Given the description of an element on the screen output the (x, y) to click on. 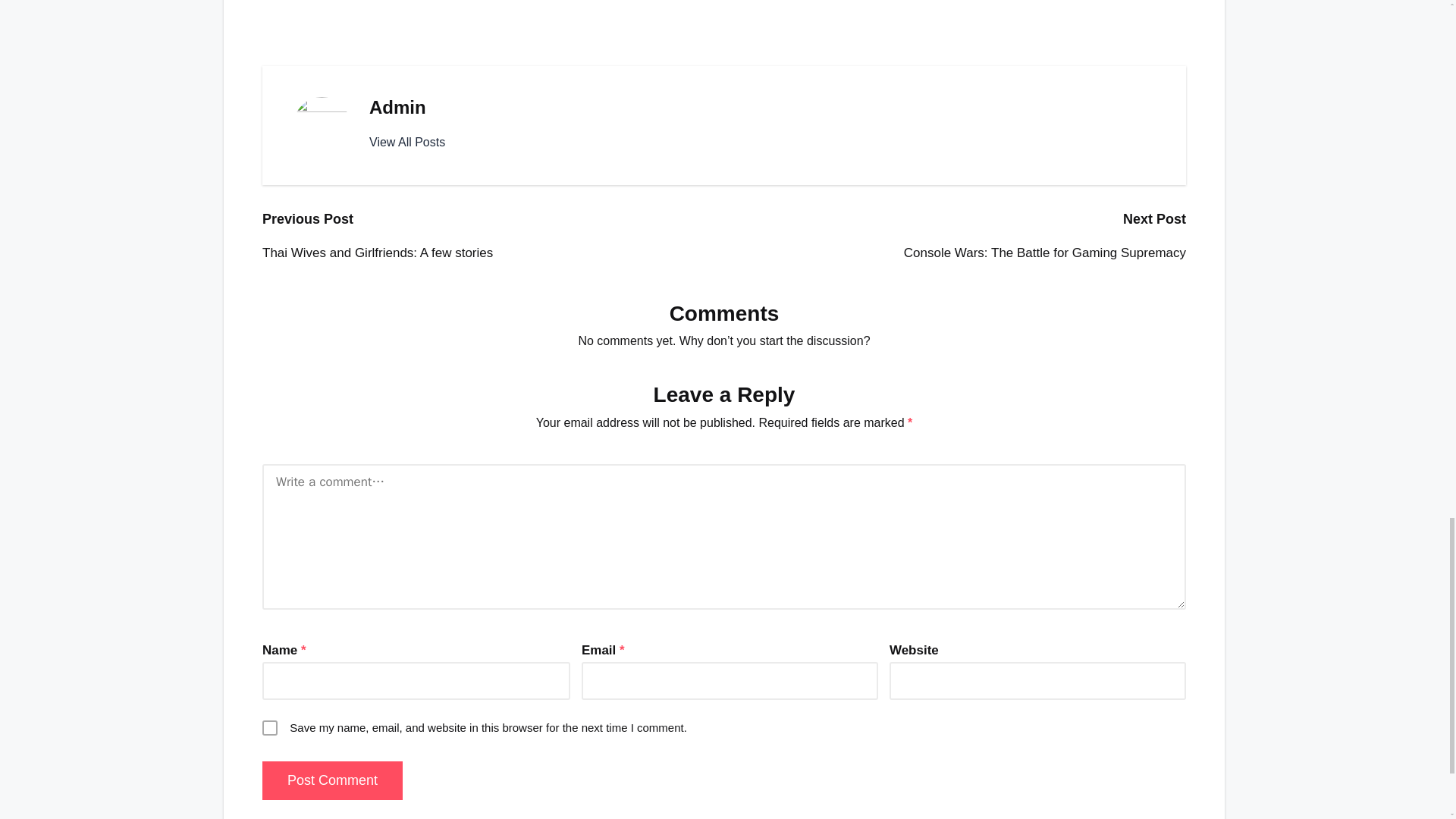
Admin (397, 107)
yes (270, 727)
Post Comment (332, 780)
Thai Wives and Girlfriends: A few stories (492, 252)
Post Comment (332, 780)
View All Posts (407, 142)
Console Wars: The Battle for Gaming Supremacy (954, 252)
